Given the description of an element on the screen output the (x, y) to click on. 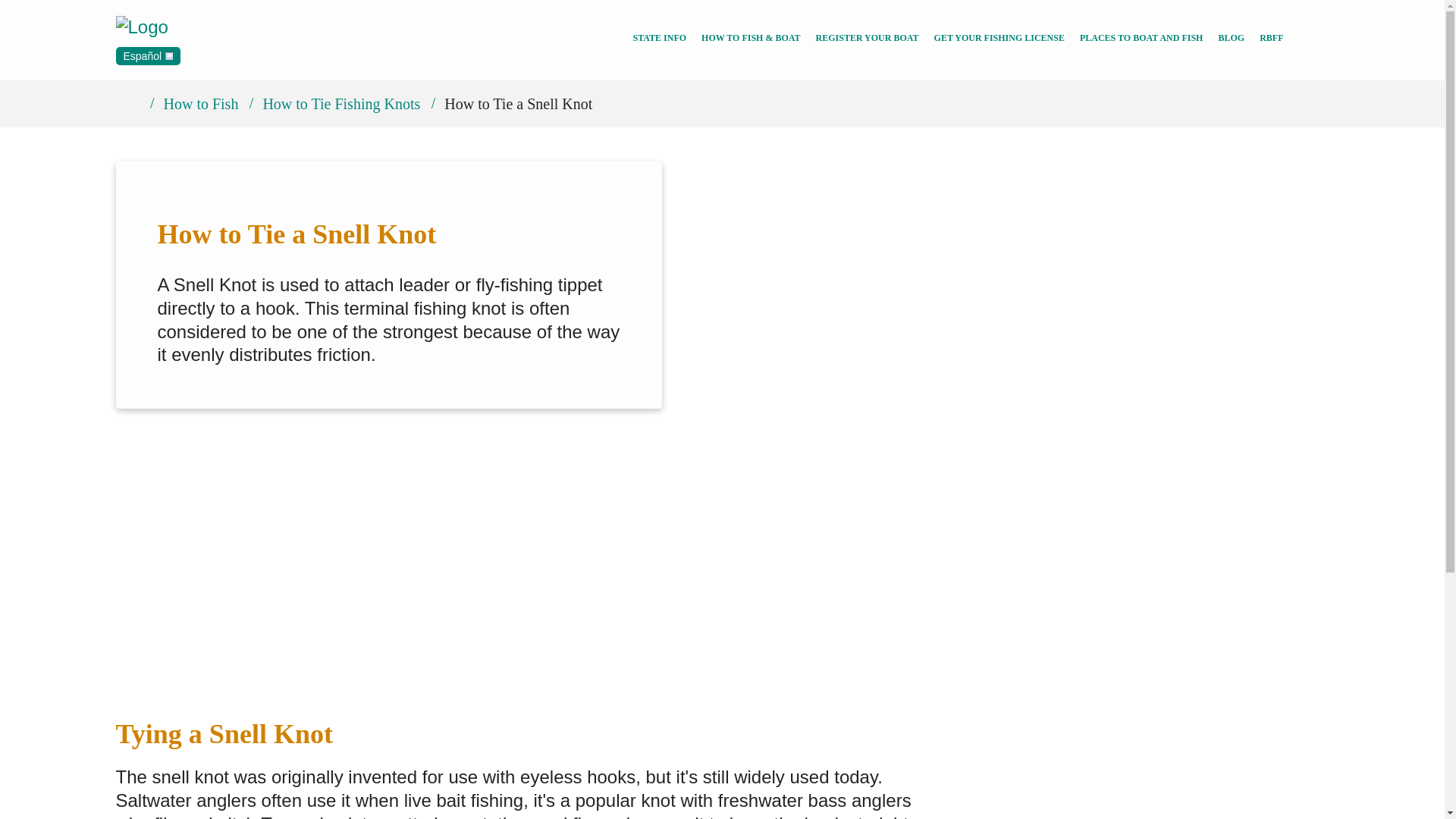
Register Your Boat (866, 39)
Get Your Fishing License (999, 39)
Blog (1230, 39)
RBFF (1270, 39)
Places To Boat And Fish (1142, 39)
State Info (658, 39)
